Given the description of an element on the screen output the (x, y) to click on. 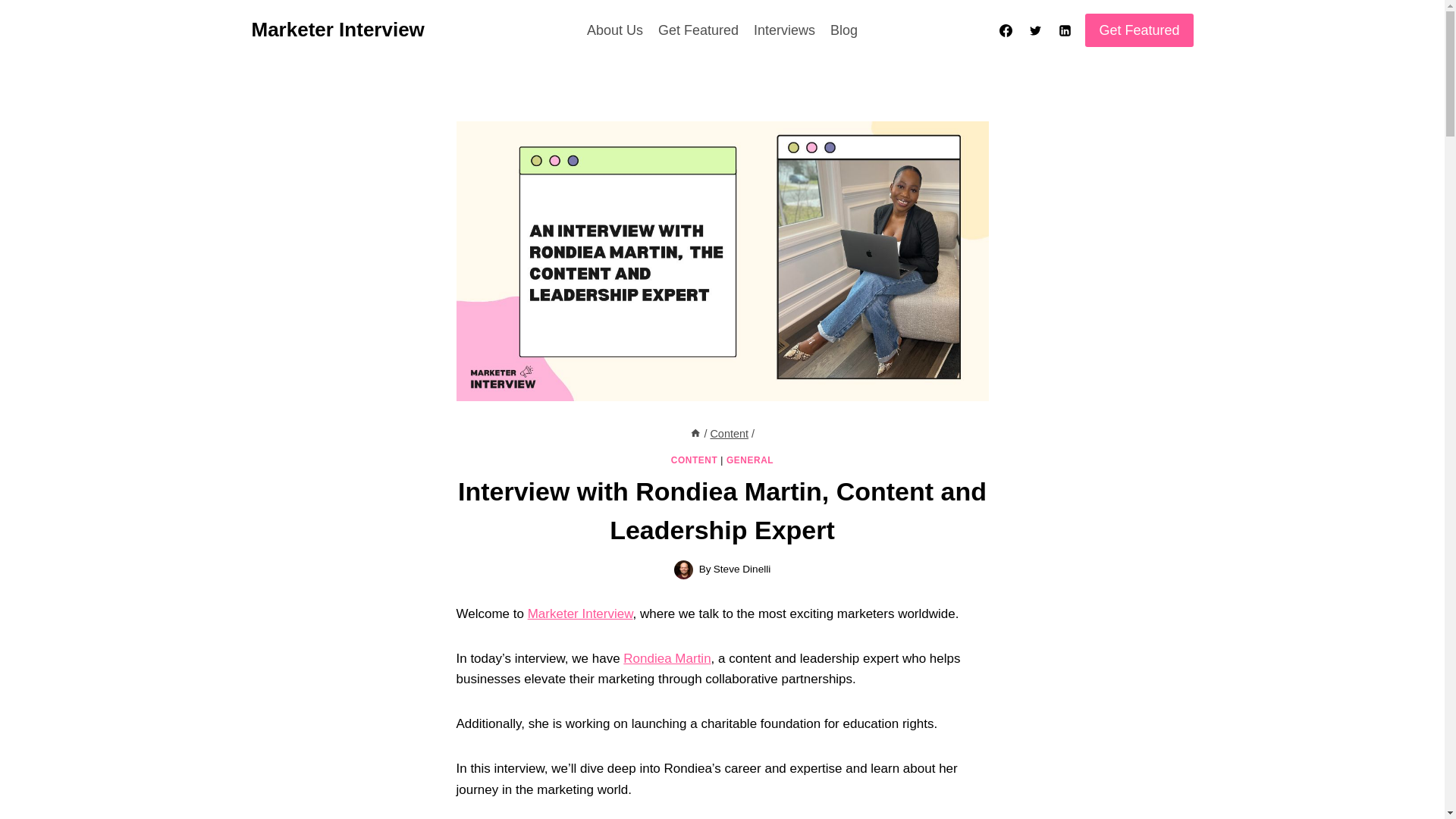
Get Featured (697, 30)
Interviews (783, 30)
Get Featured (1138, 29)
About Us (614, 30)
Marketer Interview (338, 29)
Marketer Interview (580, 613)
CONTENT (694, 460)
GENERAL (749, 460)
Content (729, 433)
